Given the description of an element on the screen output the (x, y) to click on. 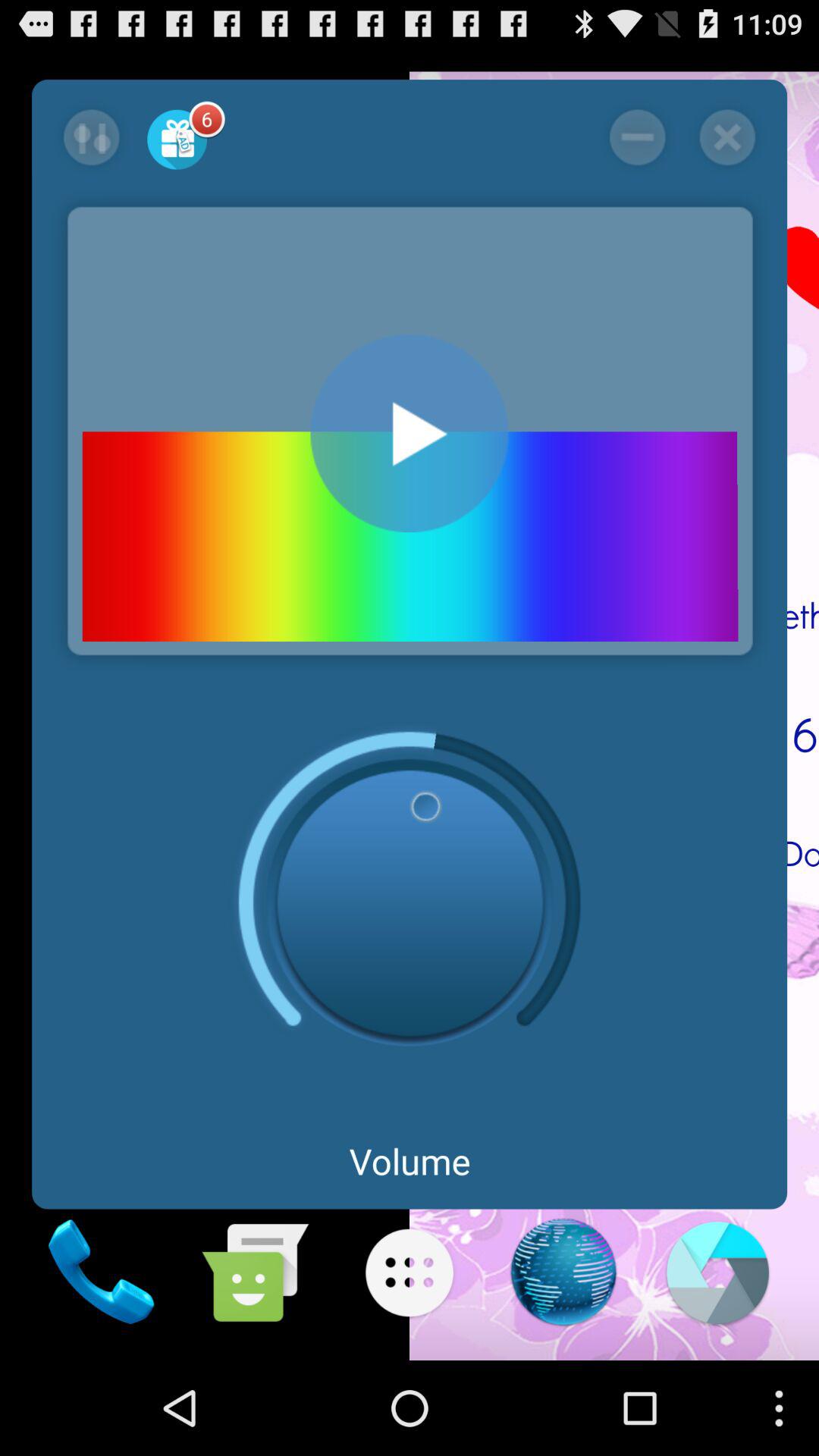
close application (727, 137)
